Given the description of an element on the screen output the (x, y) to click on. 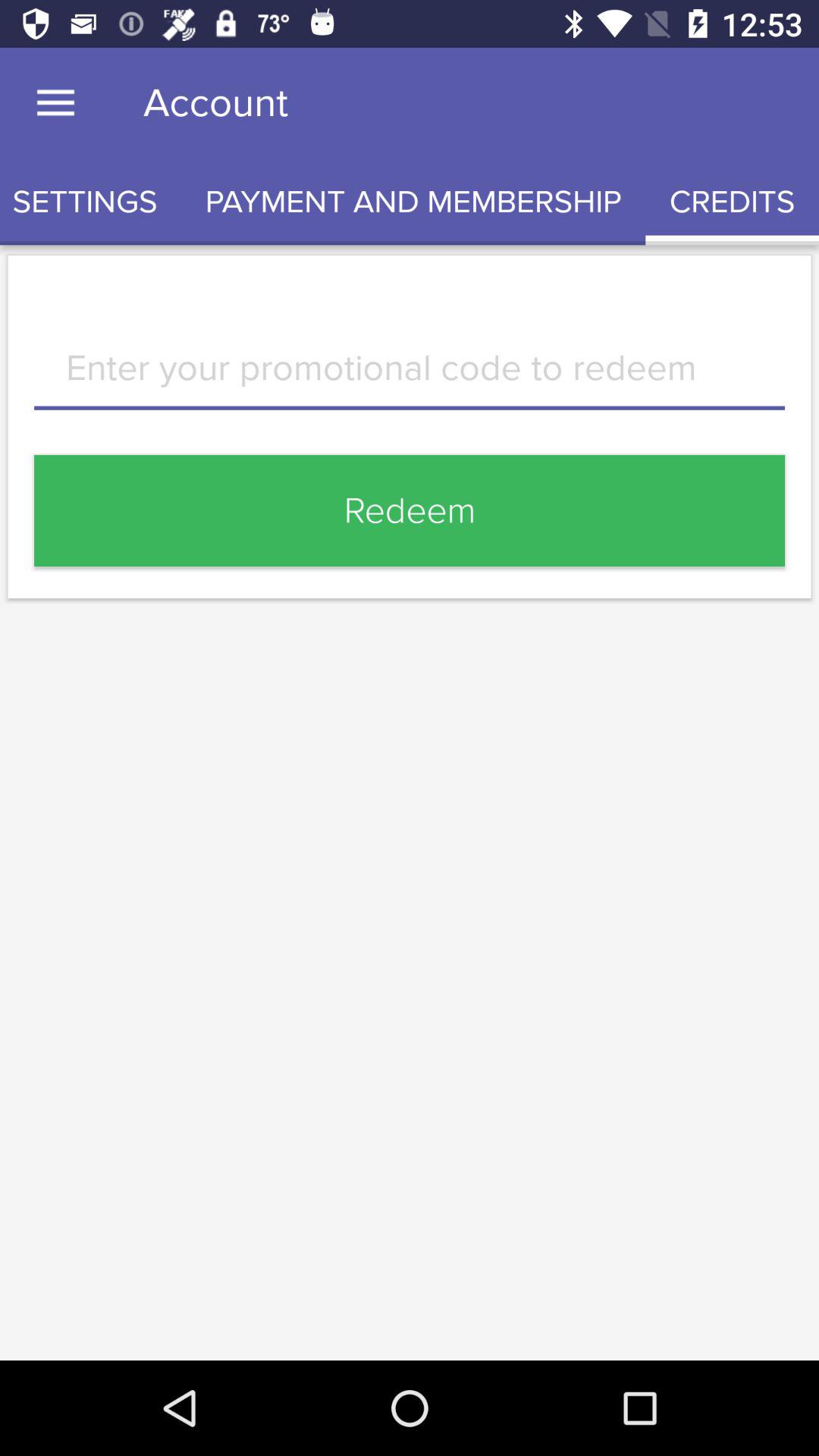
click icon next to the payment and membership icon (90, 202)
